Given the description of an element on the screen output the (x, y) to click on. 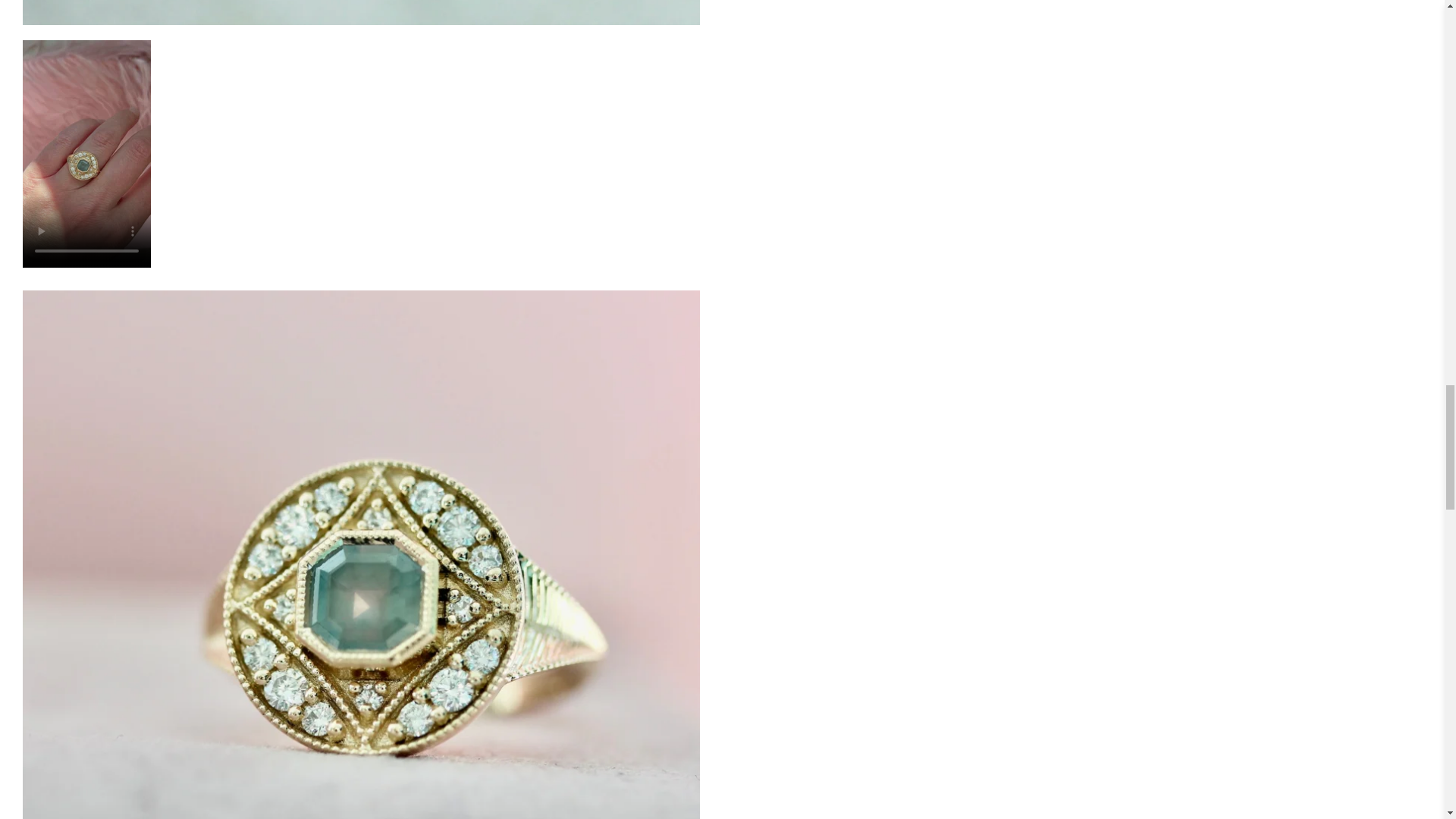
Big Sky Teal Asscher Cut Montana Sapphire Ring (361, 12)
